Given the description of an element on the screen output the (x, y) to click on. 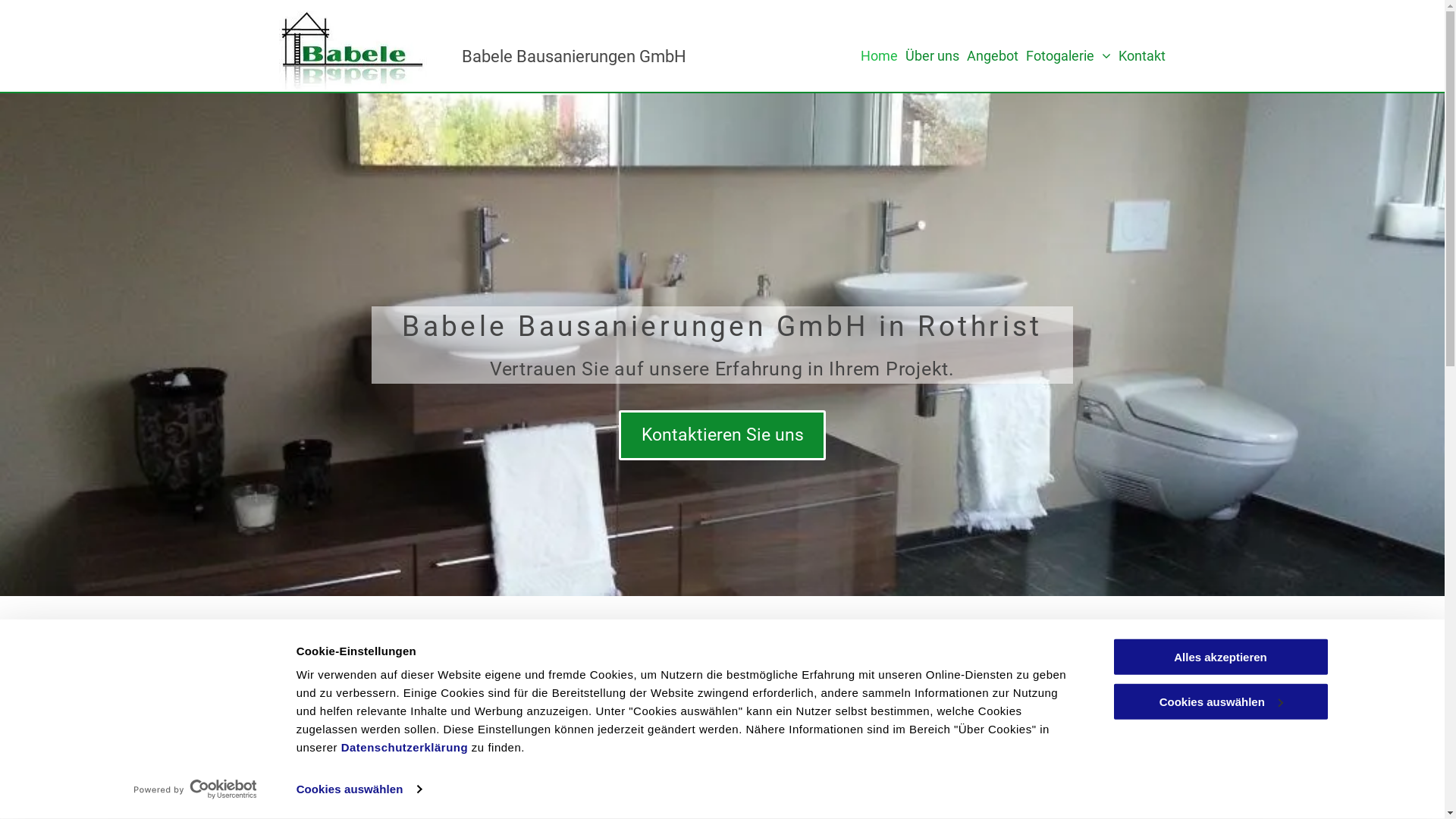
Alles akzeptieren Element type: text (1219, 656)
Anruf Element type: text (786, 715)
Fotogalerie Element type: text (1068, 55)
Kontakt Element type: text (1141, 55)
Angebot Element type: text (992, 55)
Babele Bausanierungen GmbH Element type: text (573, 56)
Home Element type: text (878, 55)
